Given the description of an element on the screen output the (x, y) to click on. 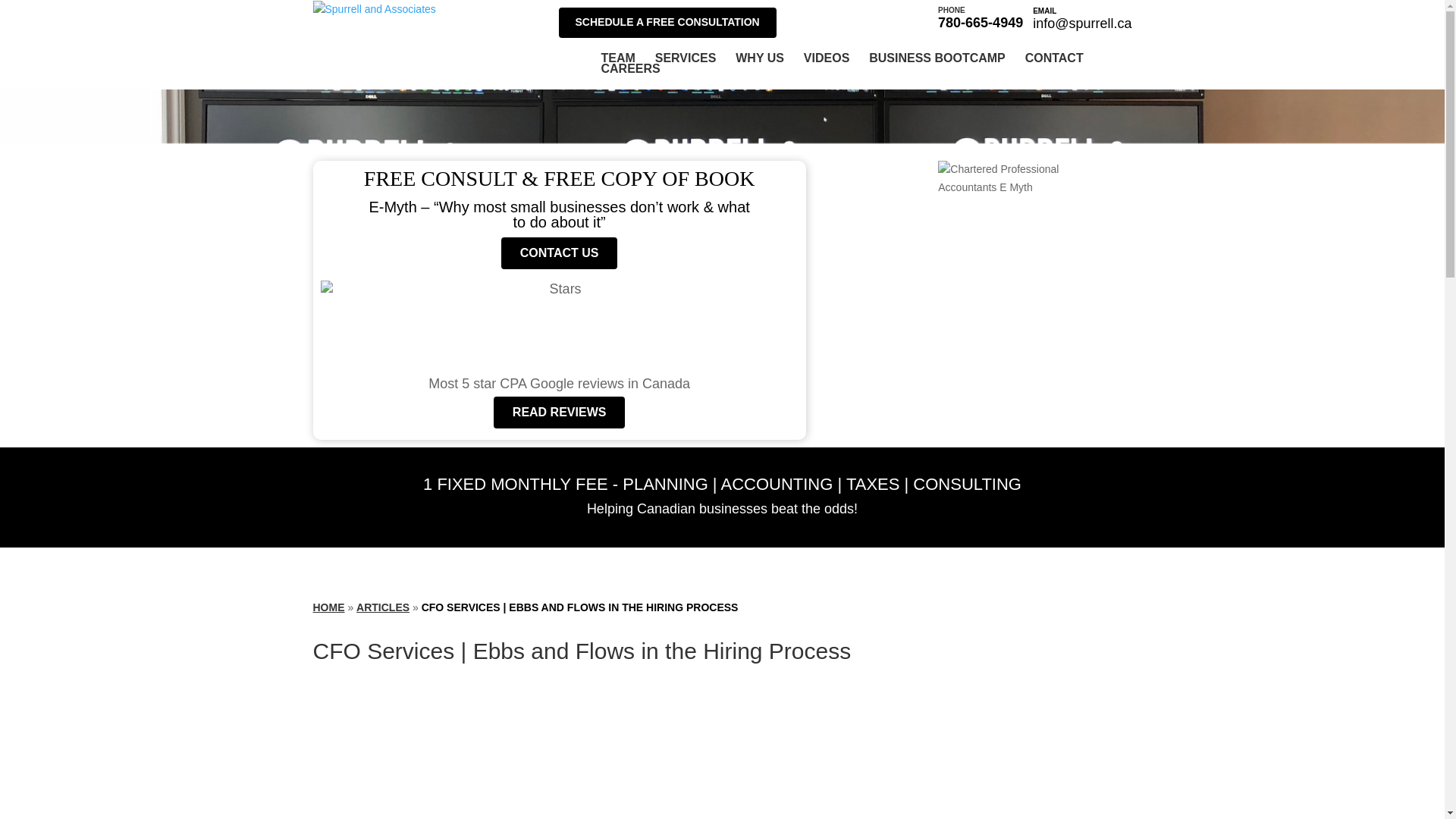
BUSINESS BOOTCAMP (937, 58)
READ REVIEWS (980, 16)
SERVICES (559, 412)
TEAM (685, 58)
WHY US (616, 58)
HOME (759, 58)
ARTICLES (328, 607)
SCHEDULE A FREE CONSULTATION (382, 607)
VIDEOS (666, 22)
